Given the description of an element on the screen output the (x, y) to click on. 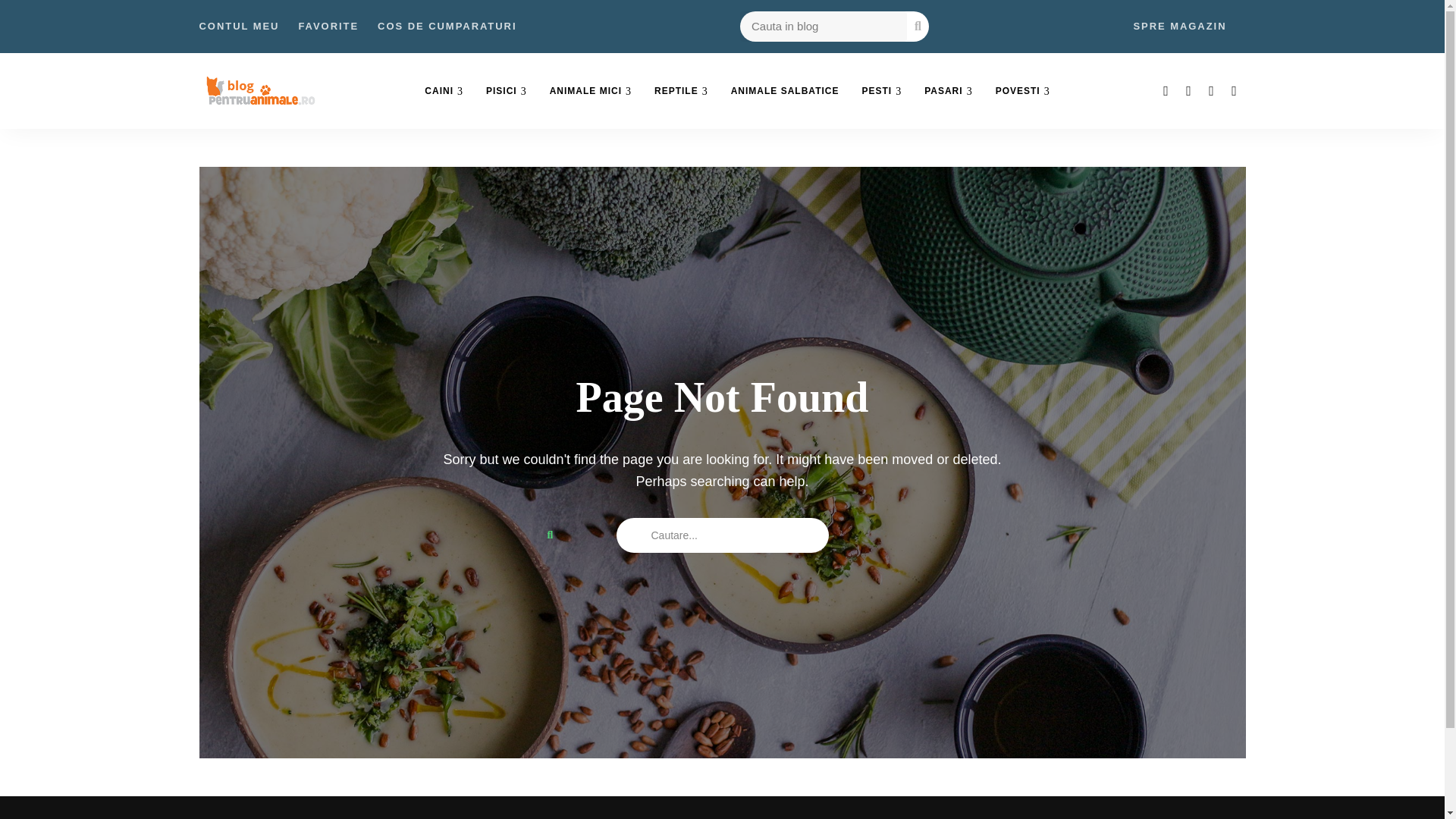
ANIMALE MICI (590, 90)
POVESTI (1022, 90)
SPRE MAGAZIN (1178, 26)
CONTUL MEU (238, 26)
REPTILE (681, 90)
ANIMALE SALBATICE (784, 90)
PASARI (948, 90)
COS DE CUMPARATURI (446, 26)
FAVORITE (328, 26)
